Given the description of an element on the screen output the (x, y) to click on. 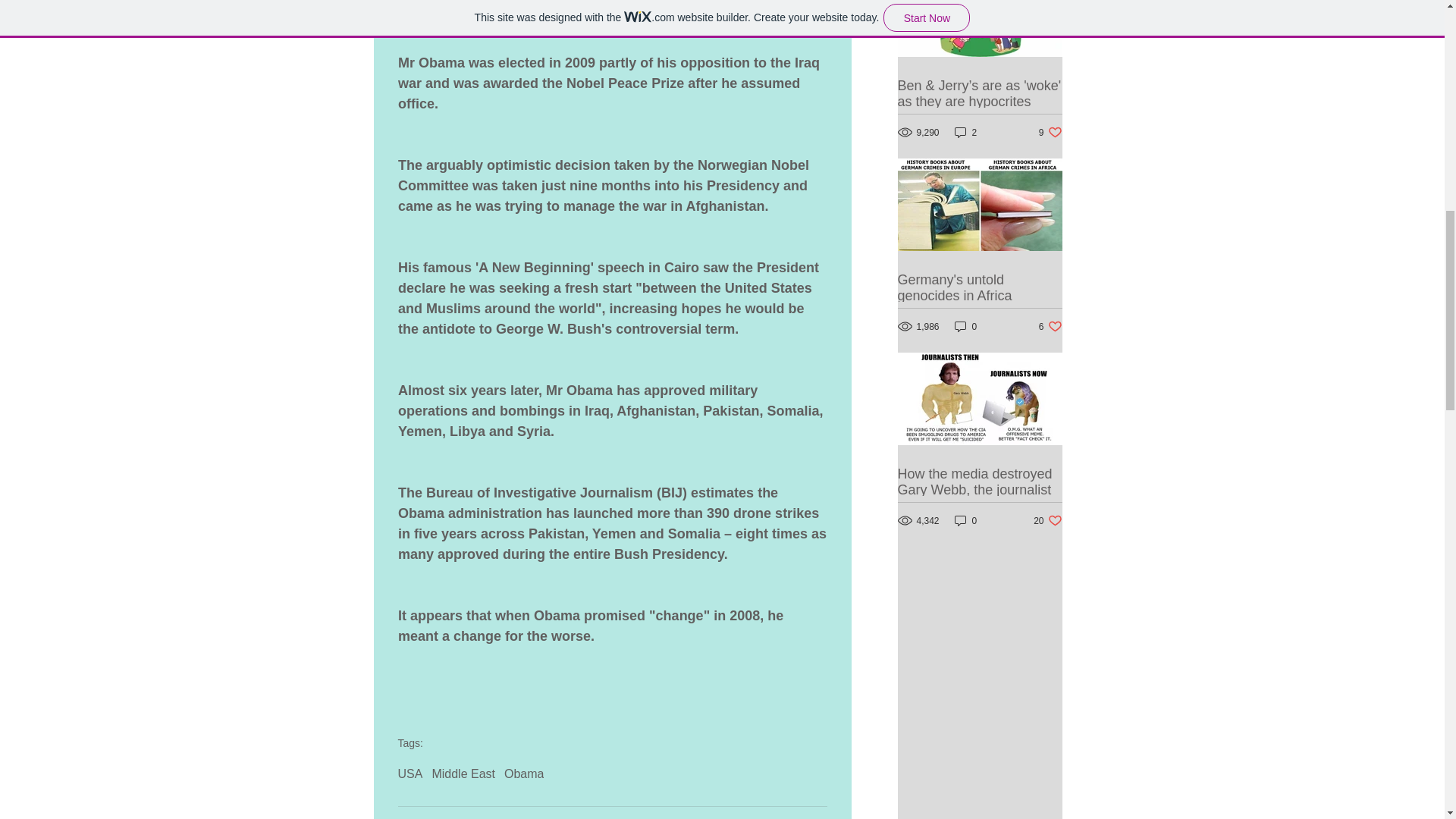
Obama (523, 774)
2 (965, 132)
USA (409, 774)
Middle East (1050, 132)
